Given the description of an element on the screen output the (x, y) to click on. 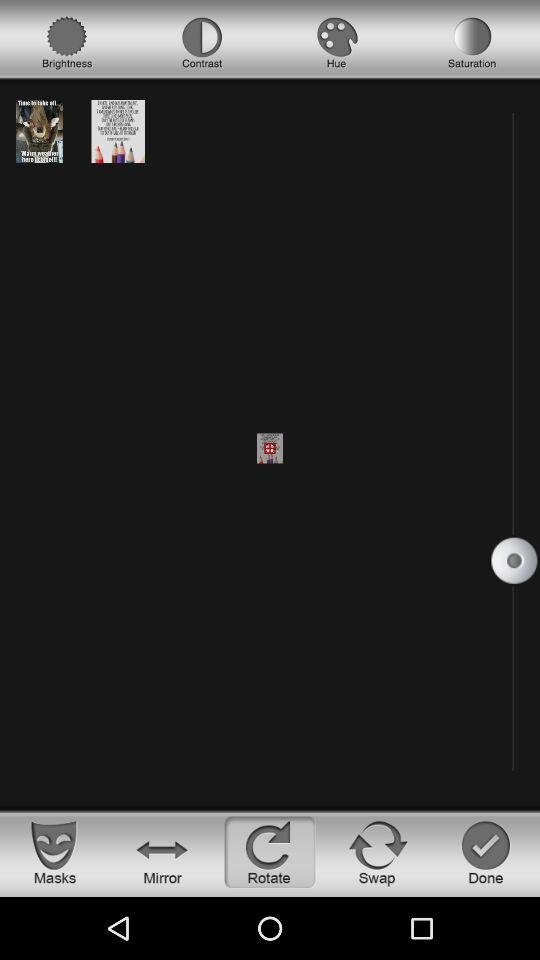
adjust saturation (472, 43)
